Given the description of an element on the screen output the (x, y) to click on. 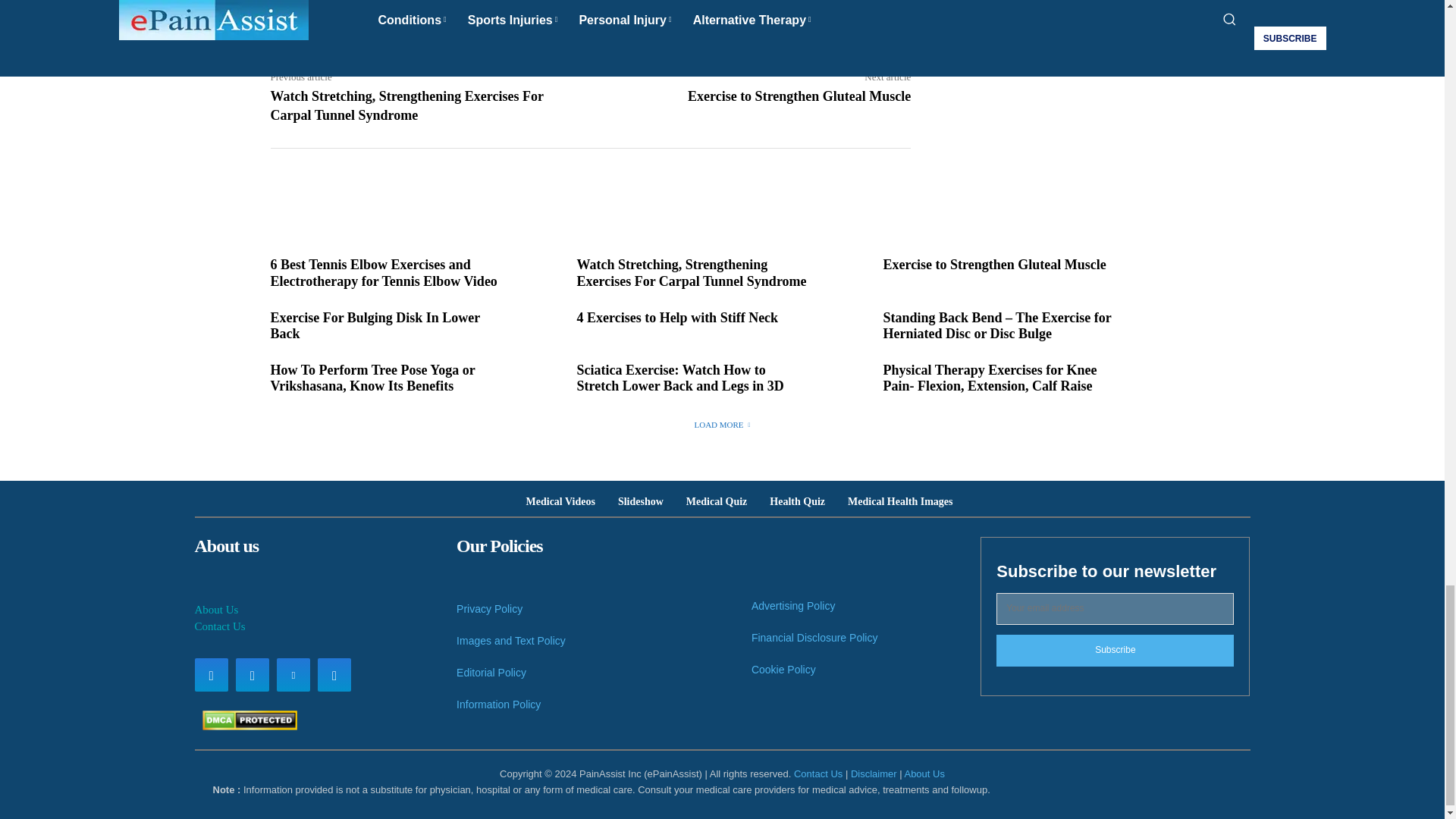
Facebook (373, 6)
Twitter (408, 6)
Pinterest (443, 6)
WhatsApp (478, 6)
